Given the description of an element on the screen output the (x, y) to click on. 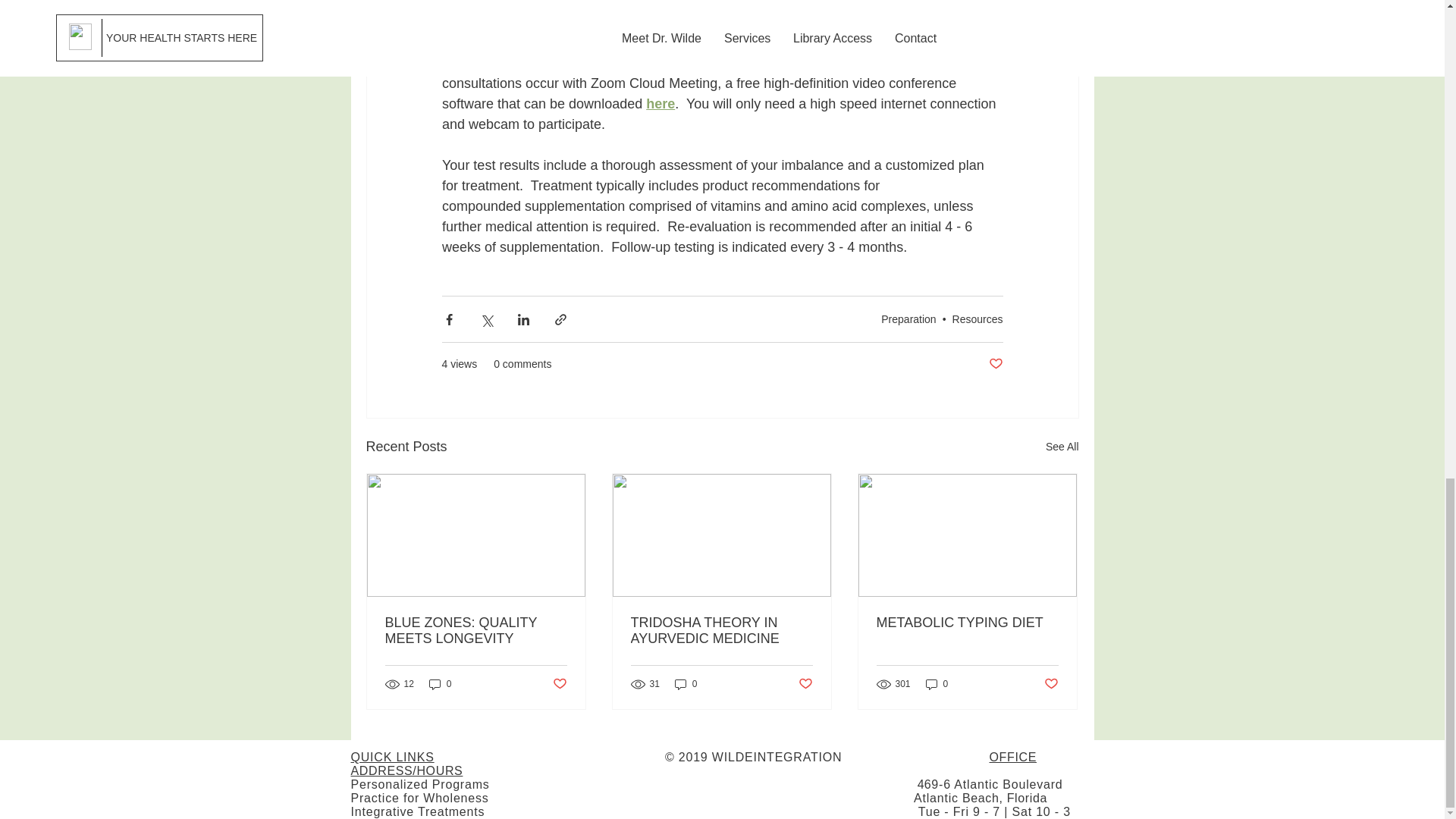
Resources (977, 318)
Post not marked as liked (804, 684)
Personalized Programs (419, 784)
See All (1061, 446)
469-6 Atlantic Boulevard (989, 784)
Post not marked as liked (558, 684)
TRIDOSHA THEORY IN AYURVEDIC MEDICINE (721, 631)
Preparation (908, 318)
BLUE ZONES: QUALITY MEETS LONGEVITY (476, 631)
Post not marked as liked (1050, 684)
